Given the description of an element on the screen output the (x, y) to click on. 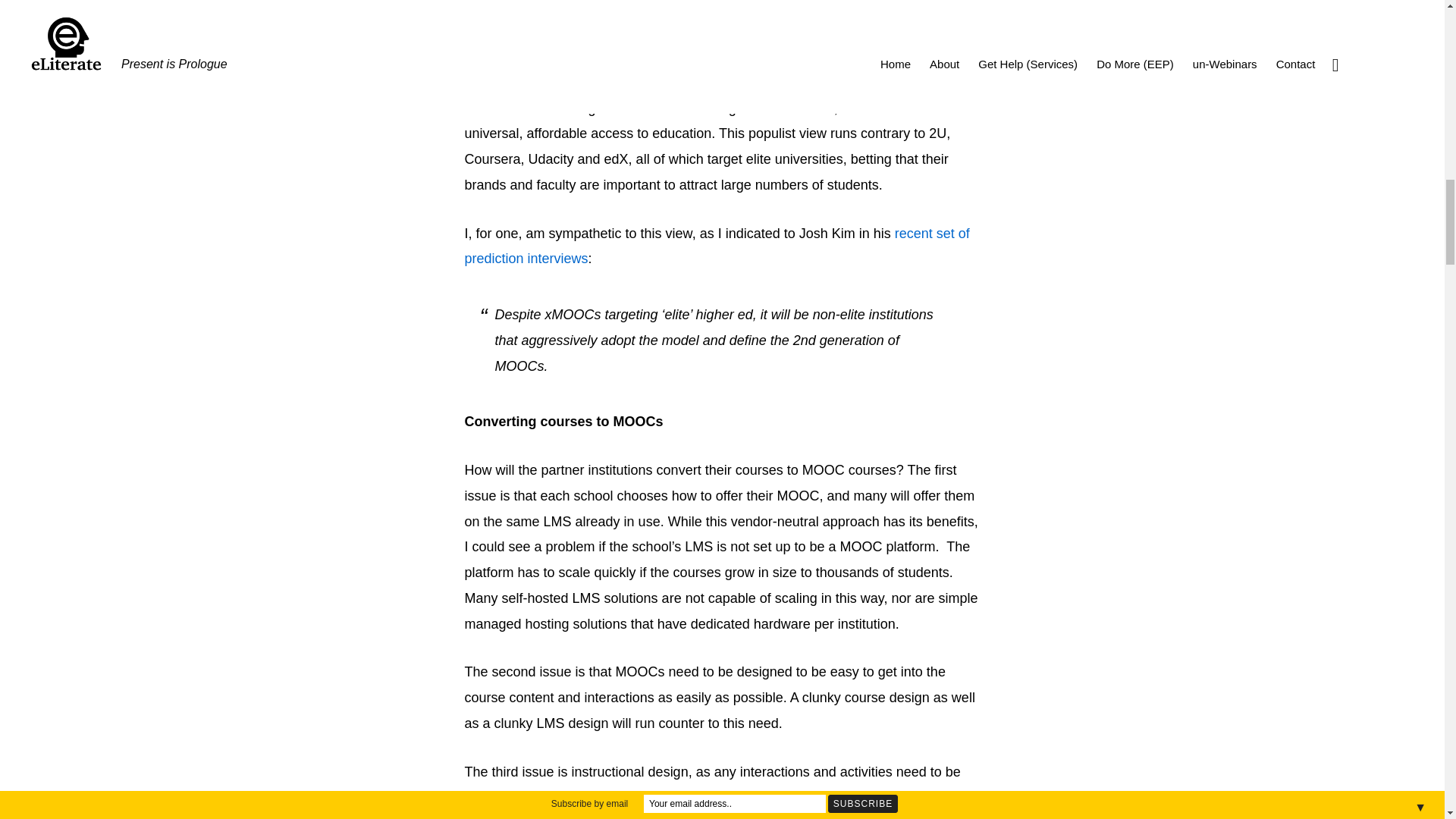
recent set of prediction interviews (716, 246)
